Given the description of an element on the screen output the (x, y) to click on. 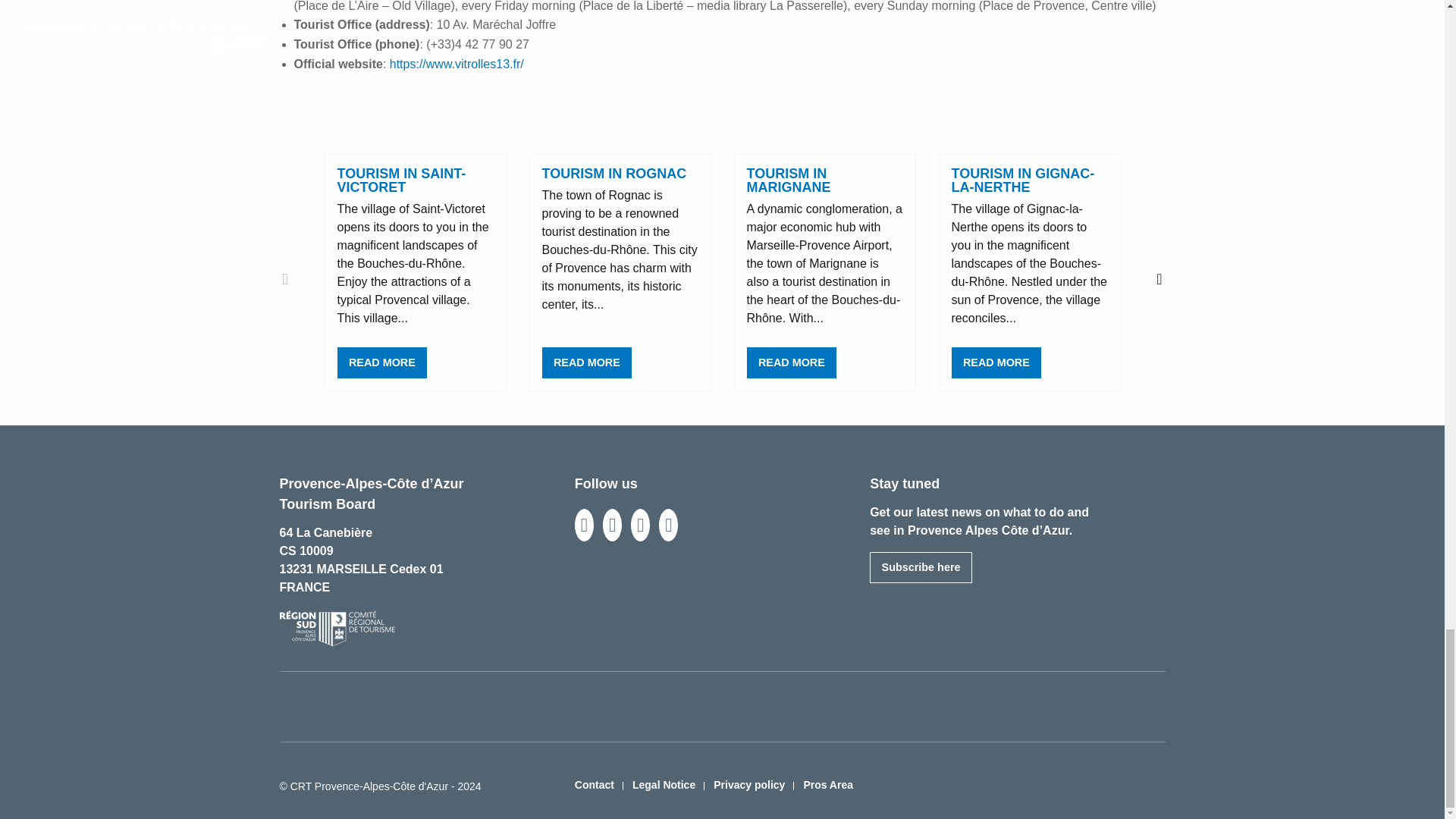
Subscribe here (920, 567)
